Given the description of an element on the screen output the (x, y) to click on. 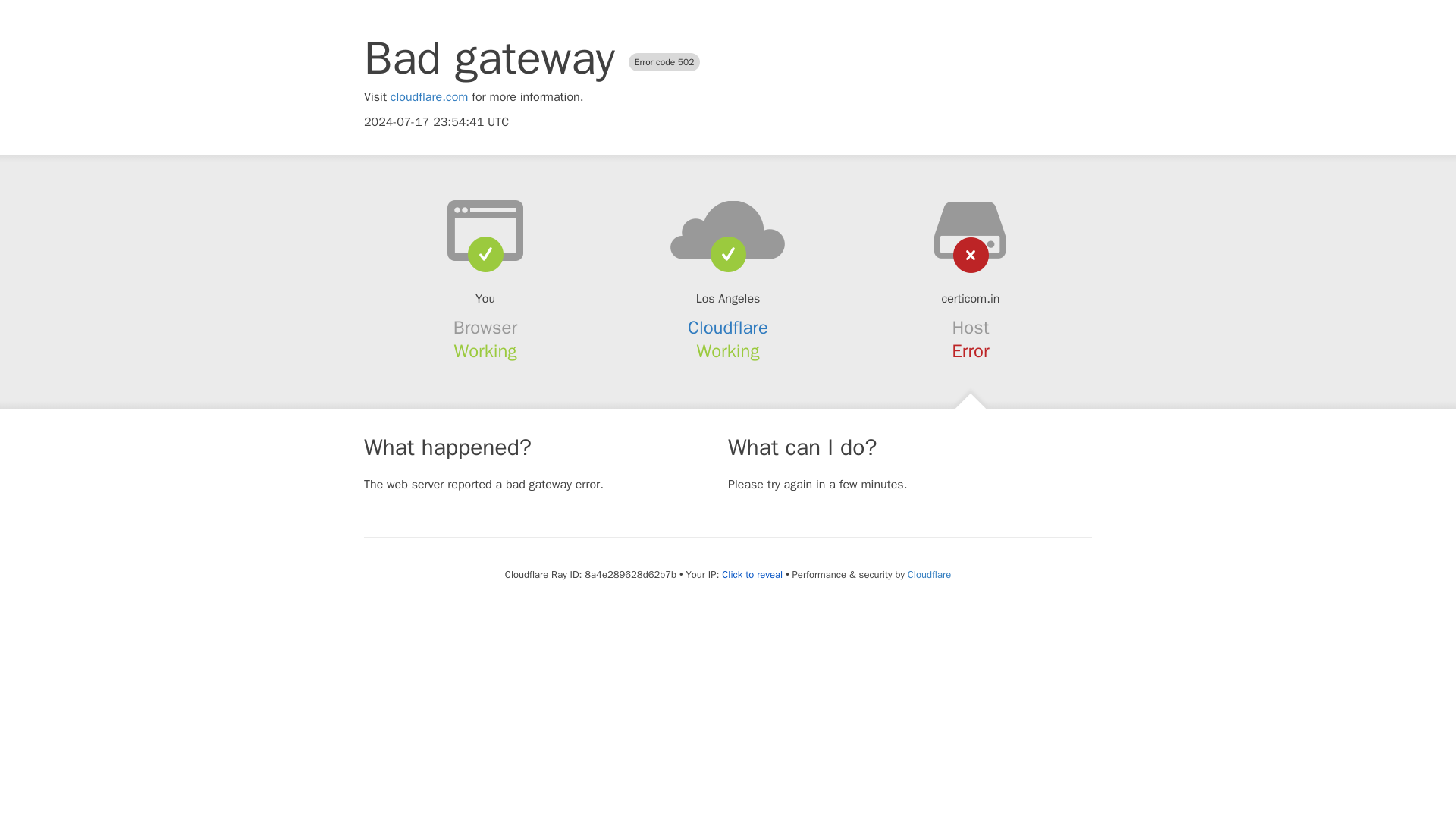
Cloudflare (727, 327)
Cloudflare (928, 574)
Click to reveal (752, 574)
cloudflare.com (429, 96)
